Given the description of an element on the screen output the (x, y) to click on. 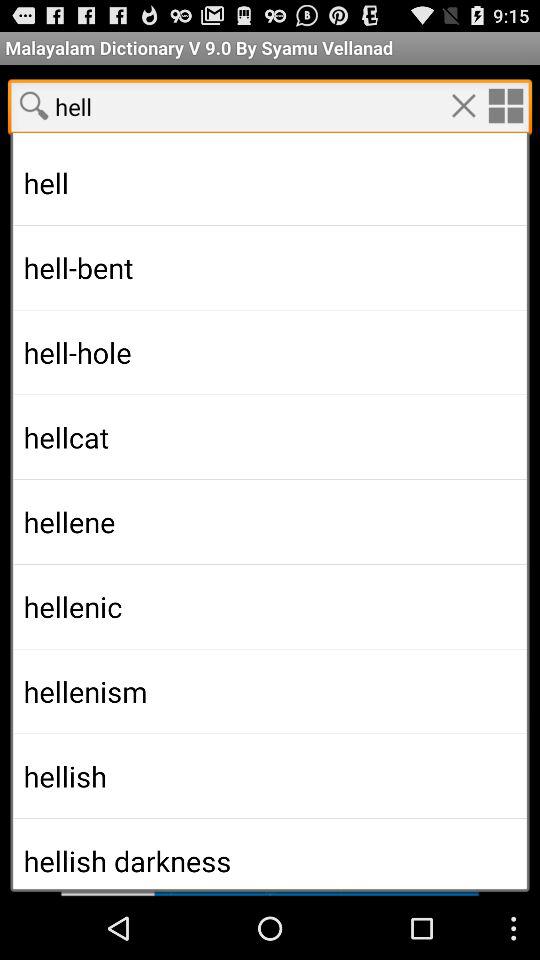
results (270, 491)
